Given the description of an element on the screen output the (x, y) to click on. 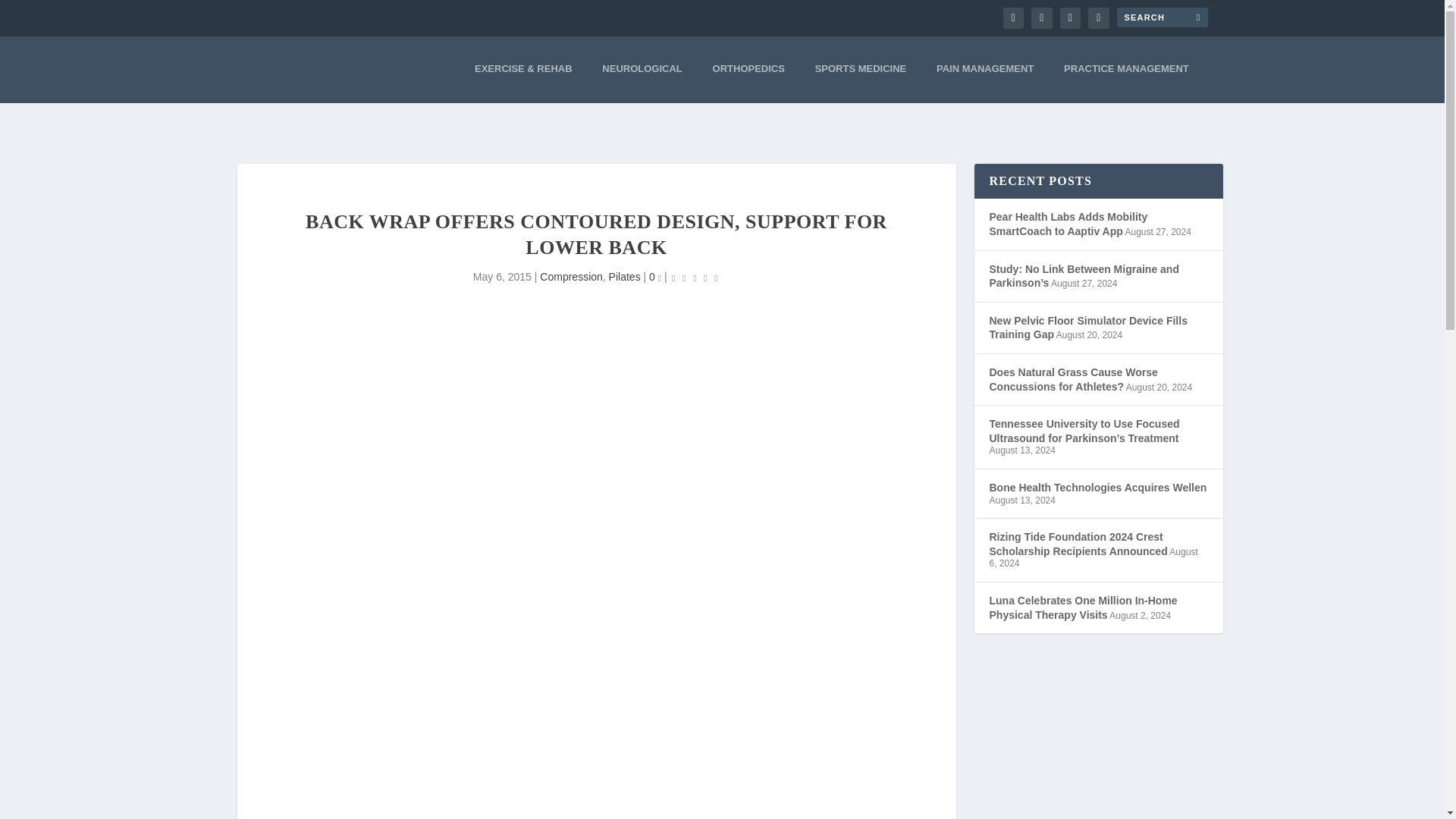
NEUROLOGICAL (645, 83)
Rating: 0.00 (694, 277)
Search for: (1161, 17)
ORTHOPEDICS (752, 83)
PAIN MANAGEMENT (988, 83)
SPORTS MEDICINE (864, 83)
